Given the description of an element on the screen output the (x, y) to click on. 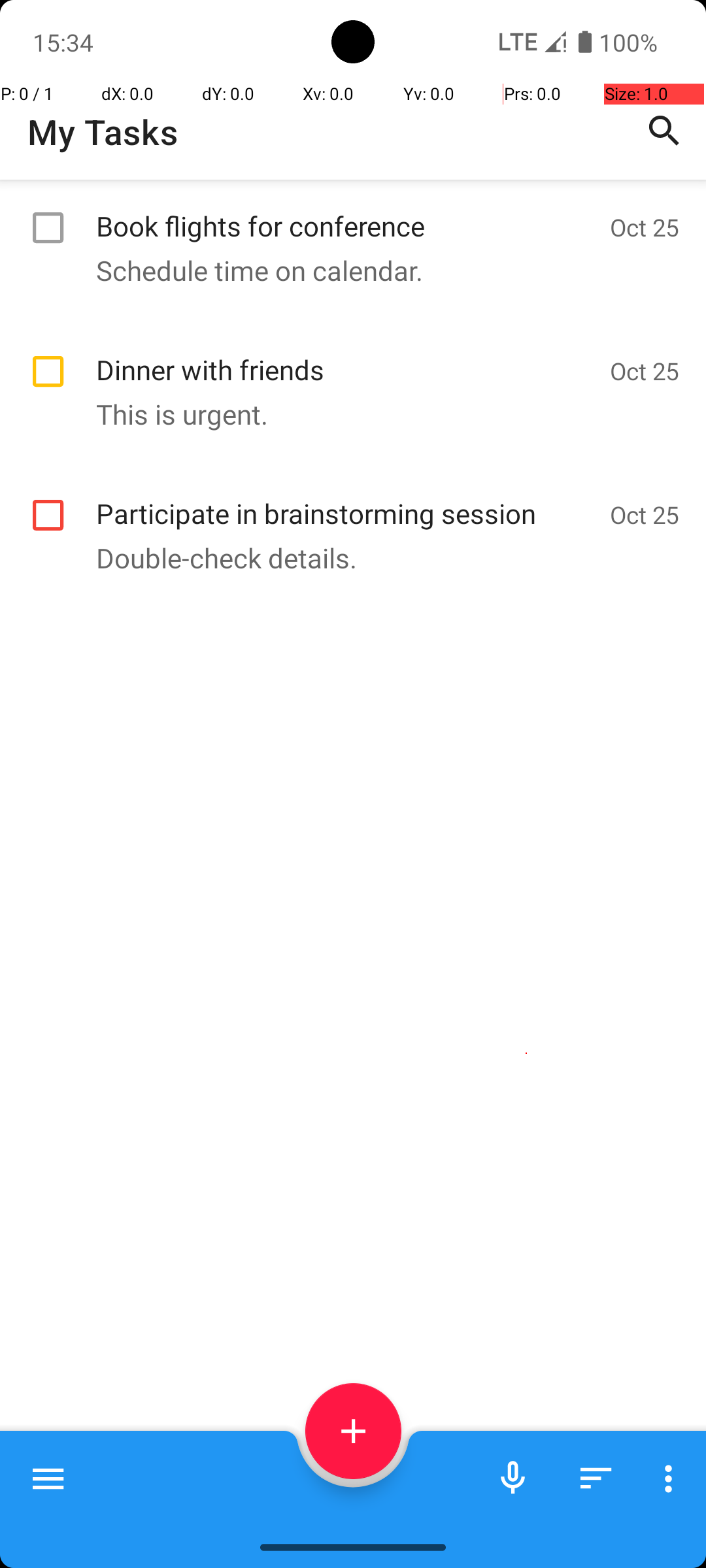
Book flights for conference Element type: android.widget.TextView (346, 211)
Schedule time on calendar. Element type: android.widget.TextView (346, 269)
Oct 25 Element type: android.widget.TextView (644, 226)
Dinner with friends Element type: android.widget.TextView (346, 355)
This is urgent. Element type: android.widget.TextView (346, 413)
Participate in brainstorming session Element type: android.widget.TextView (346, 499)
Double-check details. Element type: android.widget.TextView (346, 557)
